Given the description of an element on the screen output the (x, y) to click on. 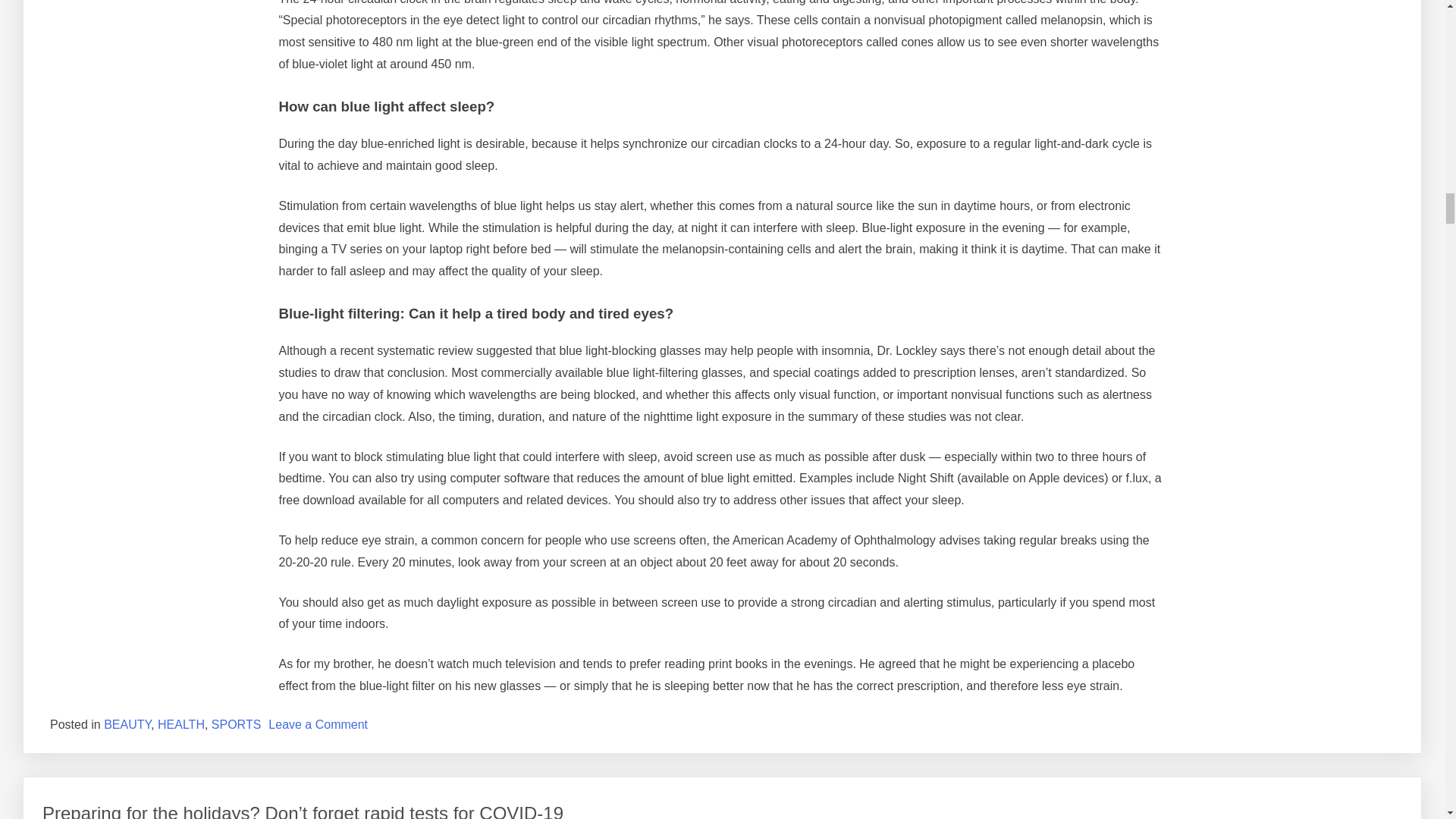
SPORTS (236, 724)
BEAUTY (127, 724)
HEALTH (181, 724)
